Given the description of an element on the screen output the (x, y) to click on. 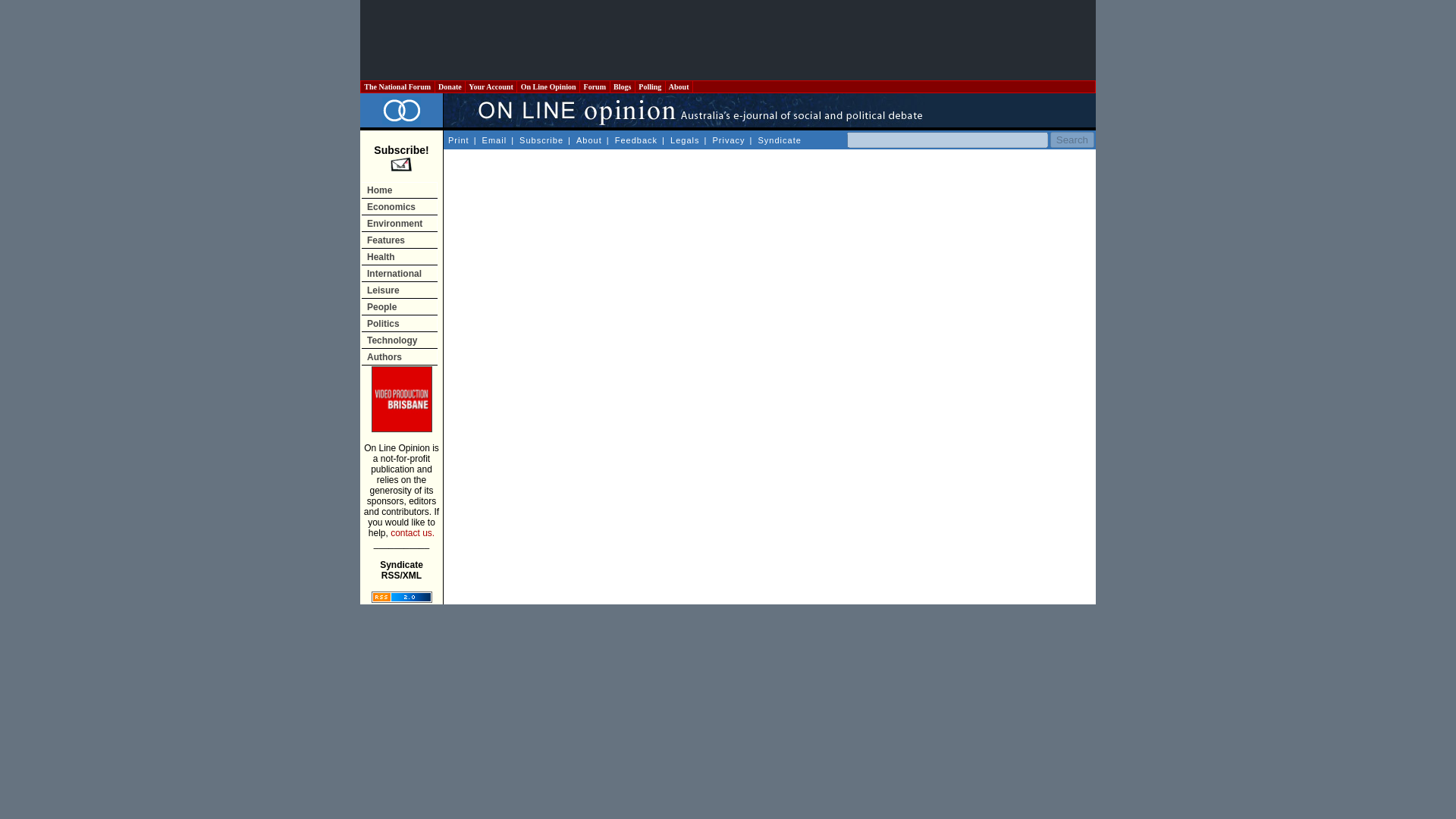
Economics (399, 206)
 Polling  (650, 86)
 Blogs  (621, 86)
Leisure (399, 289)
 Your Account  (491, 86)
Search (1071, 139)
 On Line Opinion  (548, 86)
International (399, 273)
Health (399, 256)
 About  (678, 86)
